Given the description of an element on the screen output the (x, y) to click on. 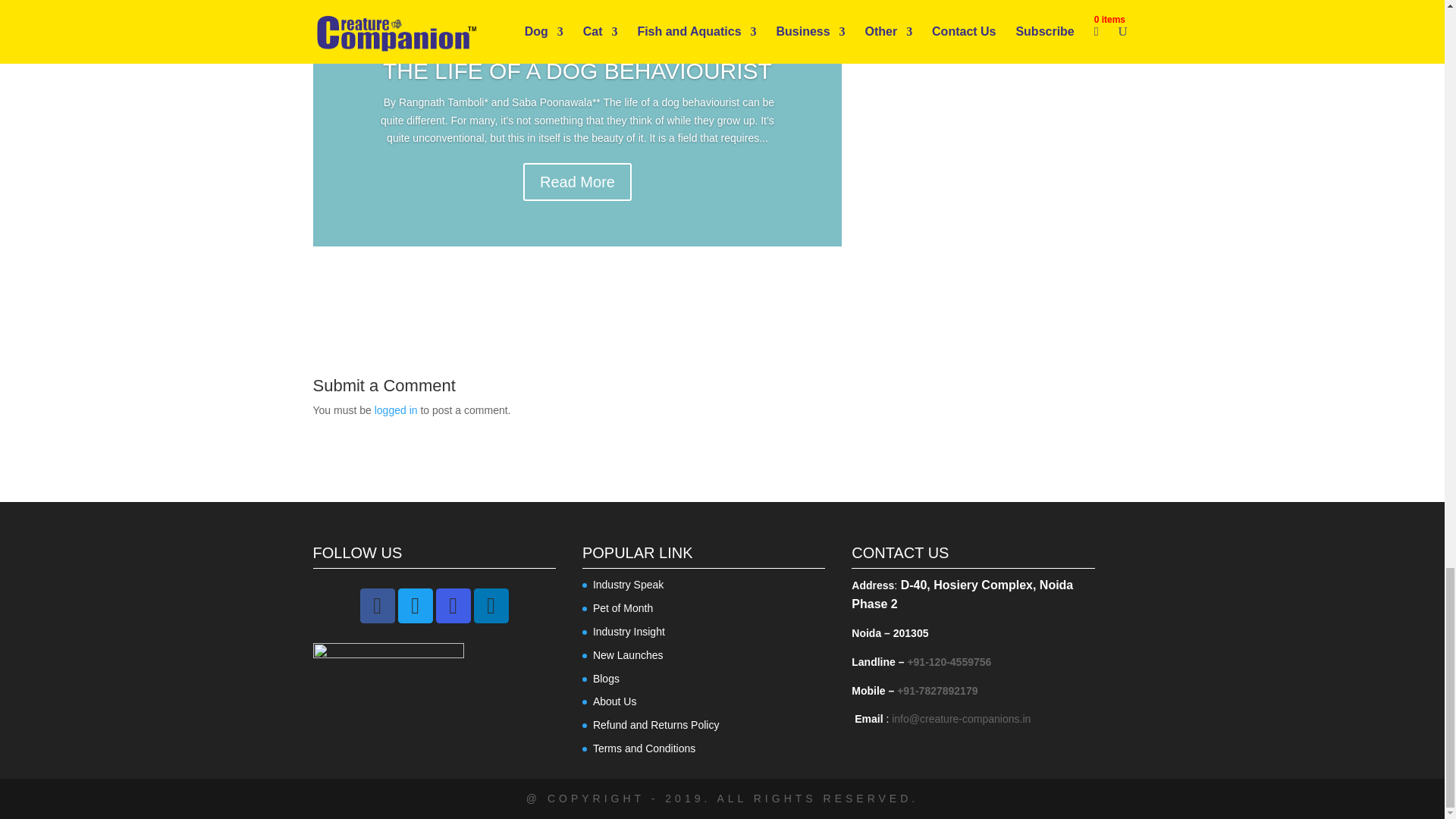
Instagram (452, 605)
Facebook (376, 605)
THE LIFE OF A DOG BEHAVIOURIST (576, 70)
Twitter (414, 605)
